Given the description of an element on the screen output the (x, y) to click on. 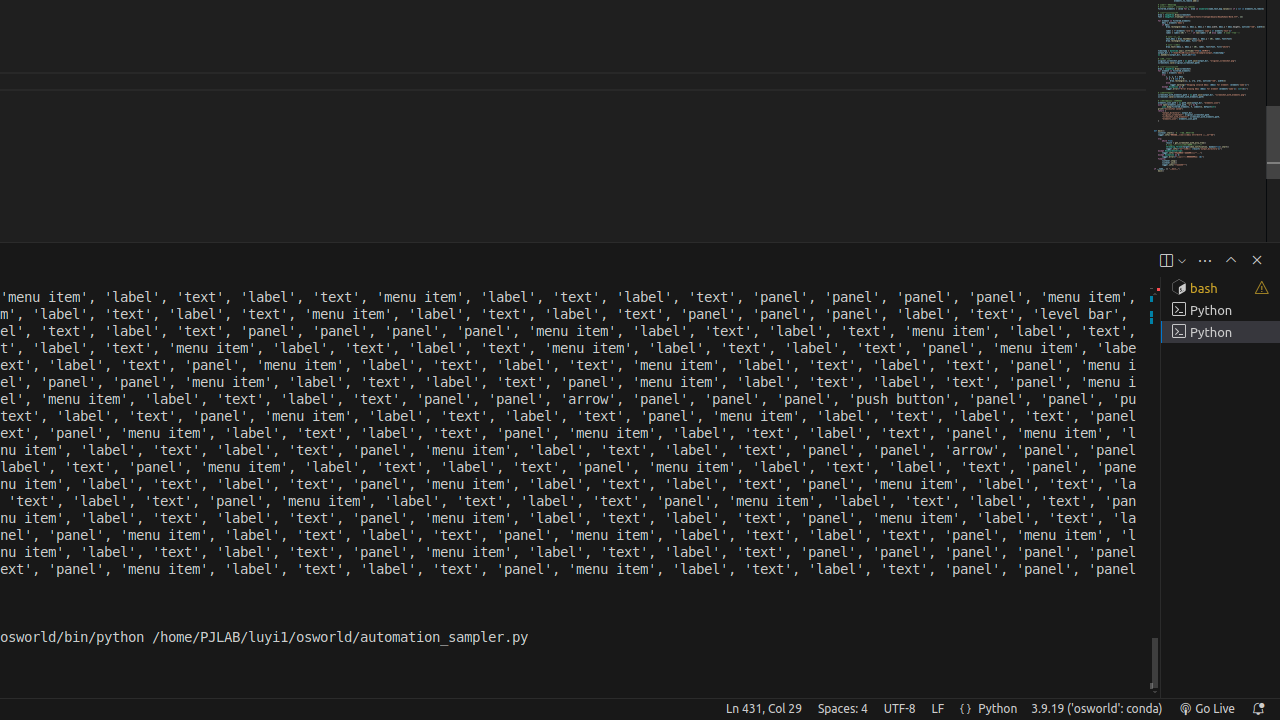
Ln 431, Col 29 Element type: push-button (764, 709)
Spaces: 4 Element type: push-button (842, 709)
